Given the description of an element on the screen output the (x, y) to click on. 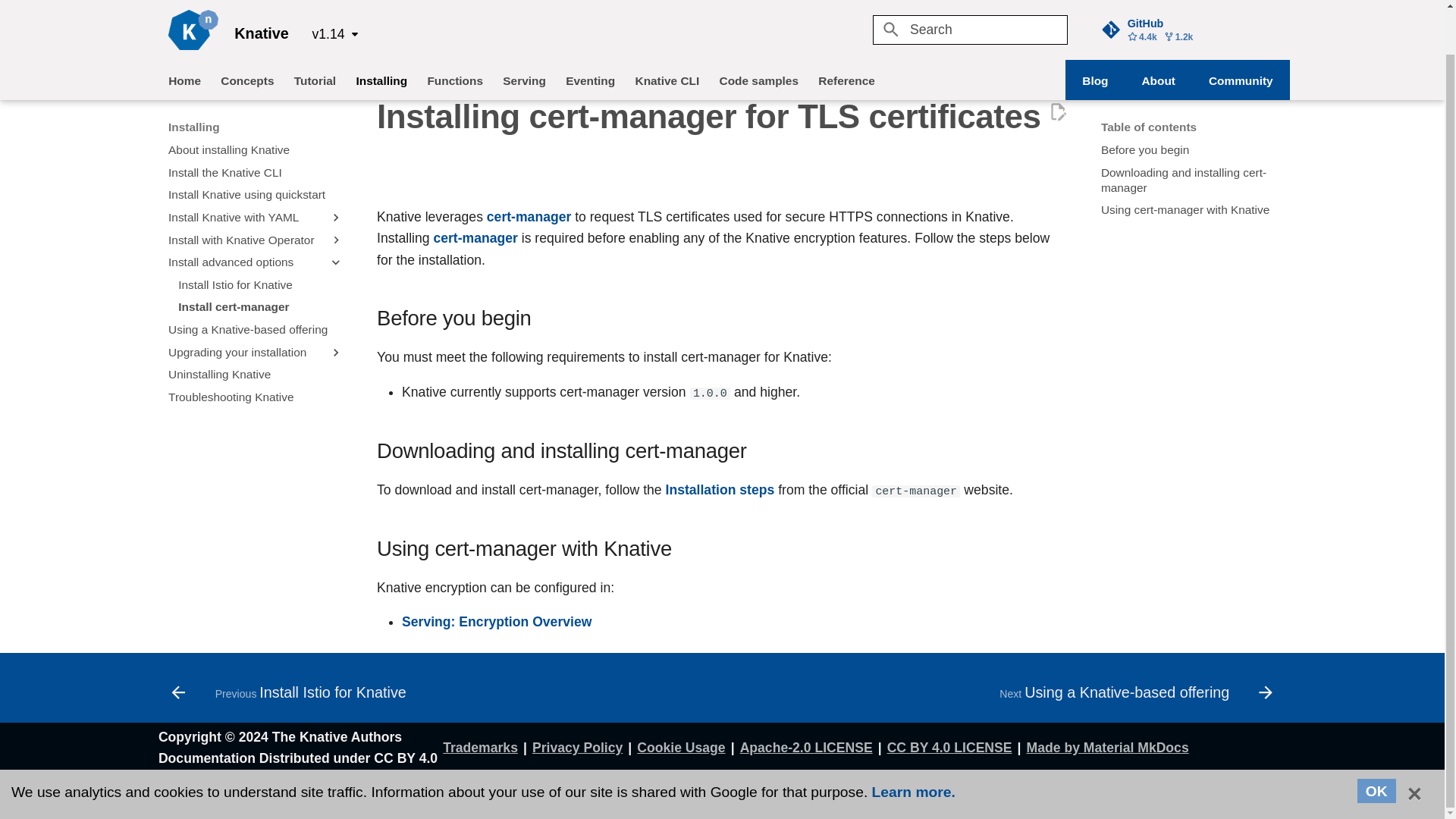
twitter.com (178, 791)
Serving (523, 33)
Reference (846, 33)
Concepts (247, 33)
Knative (193, 4)
Functions (454, 33)
Slack (238, 791)
Blog (1094, 33)
Home (1187, 1)
Community (184, 33)
Knative Community on Github (1240, 33)
Tutorial (208, 791)
About (315, 33)
Installing (1157, 33)
